Given the description of an element on the screen output the (x, y) to click on. 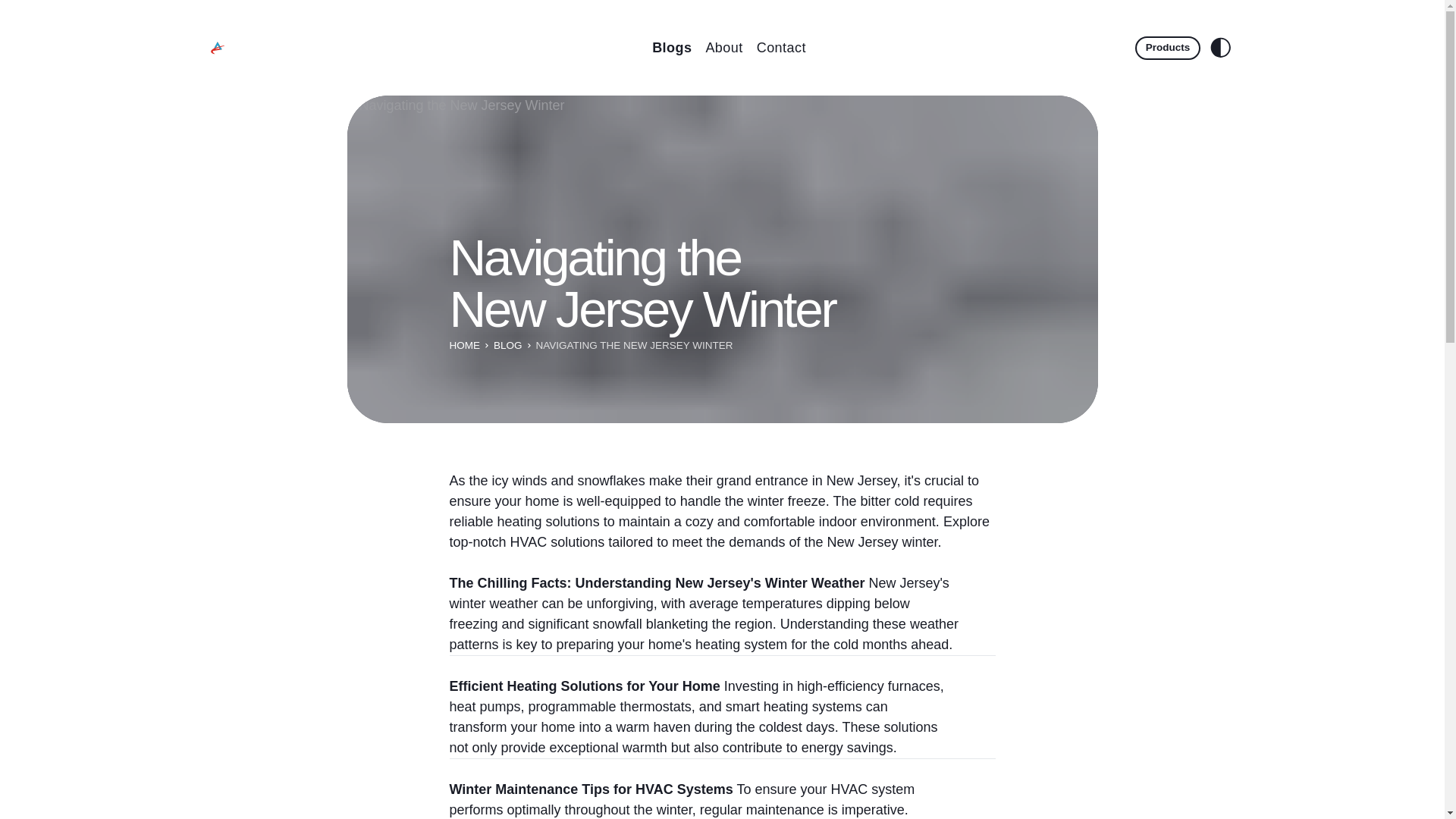
Products (1167, 47)
About (723, 47)
Blogs (671, 47)
HOME (464, 345)
Contact (781, 47)
BLOG (507, 345)
